Given the description of an element on the screen output the (x, y) to click on. 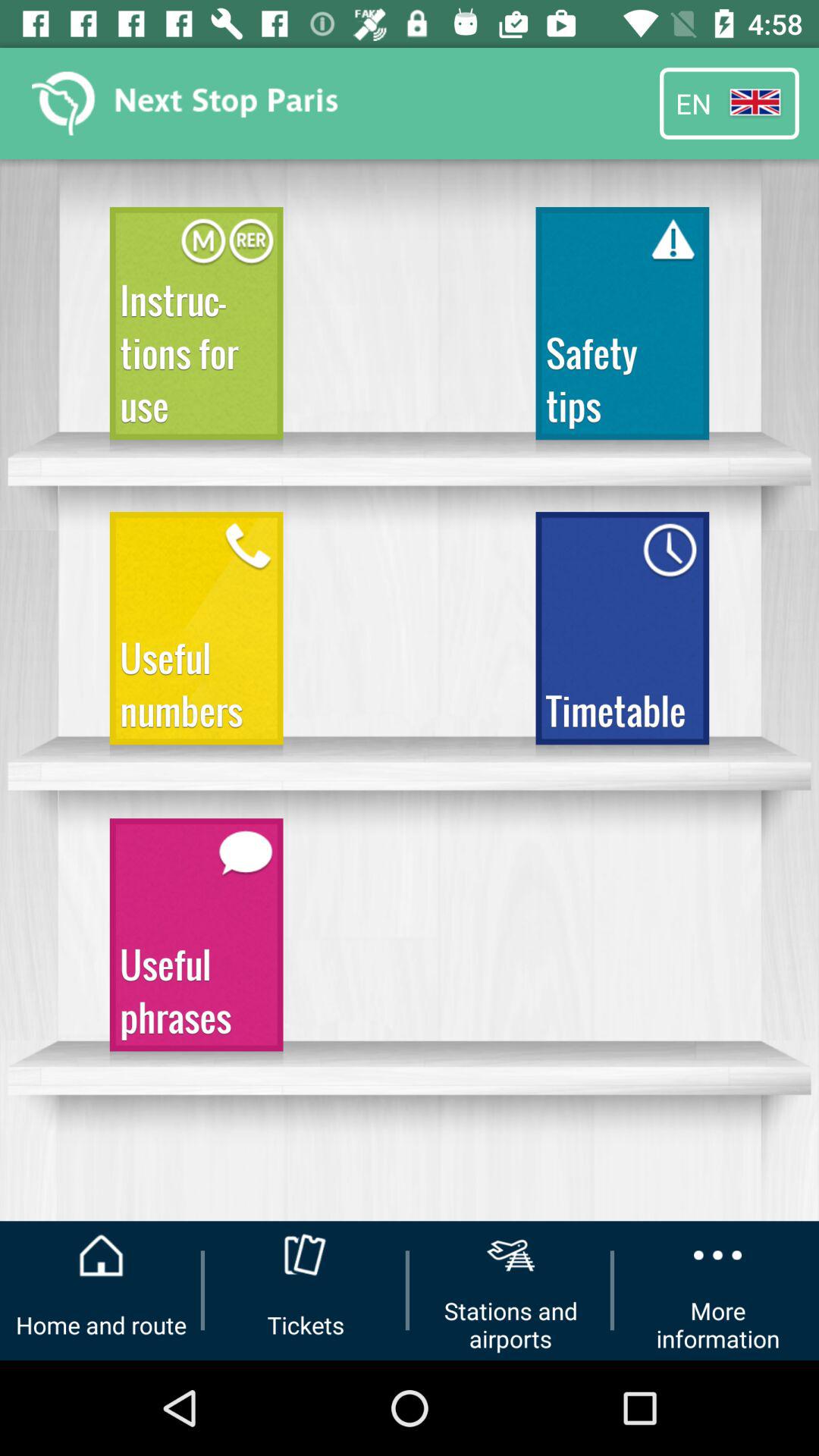
press the item next to the useful numbers icon (622, 634)
